Given the description of an element on the screen output the (x, y) to click on. 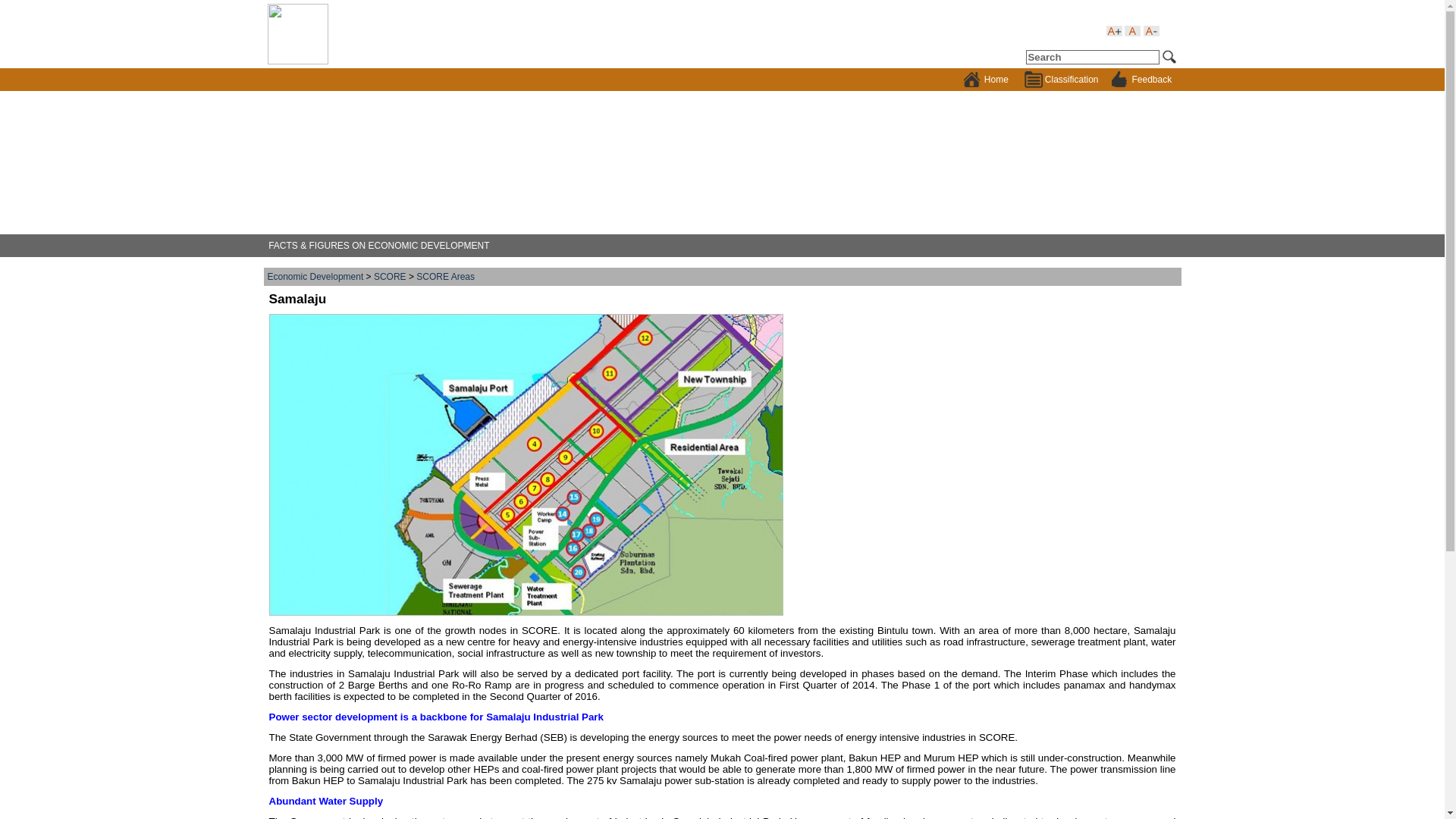
Classification (1060, 79)
Search (1091, 56)
Economic Development (314, 276)
Home (986, 79)
Home (986, 79)
Feedback (1140, 79)
SCORE Areas (445, 276)
SCORE (390, 276)
Feedback (1140, 79)
Classification (1060, 79)
Search (1091, 56)
